Given the description of an element on the screen output the (x, y) to click on. 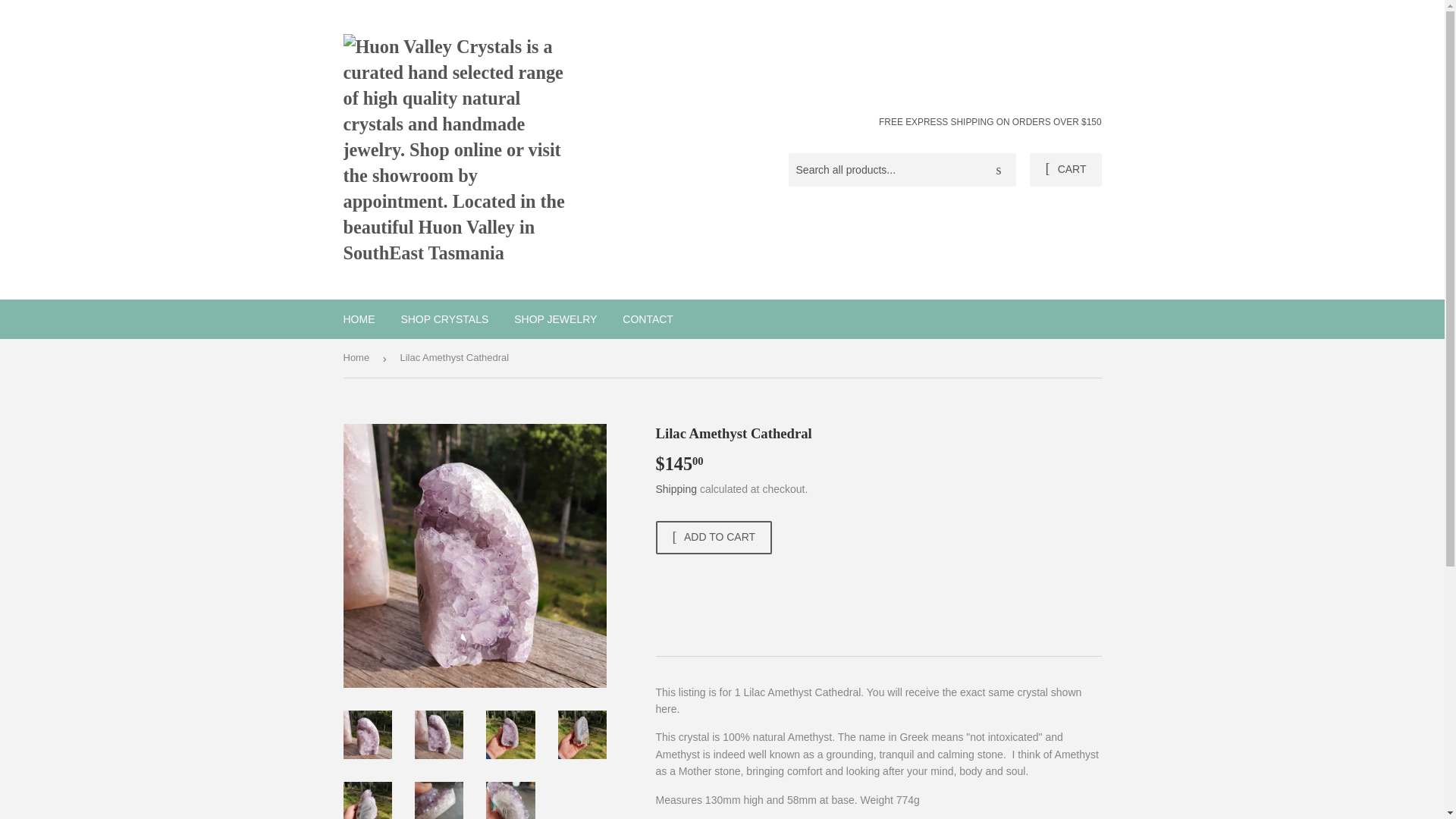
SHOP CRYSTALS (443, 319)
HOME (359, 319)
SHOP JEWELRY (555, 319)
Shipping (676, 489)
CART (1064, 169)
Search (998, 170)
ADD TO CART (713, 537)
CONTACT (647, 319)
